Given the description of an element on the screen output the (x, y) to click on. 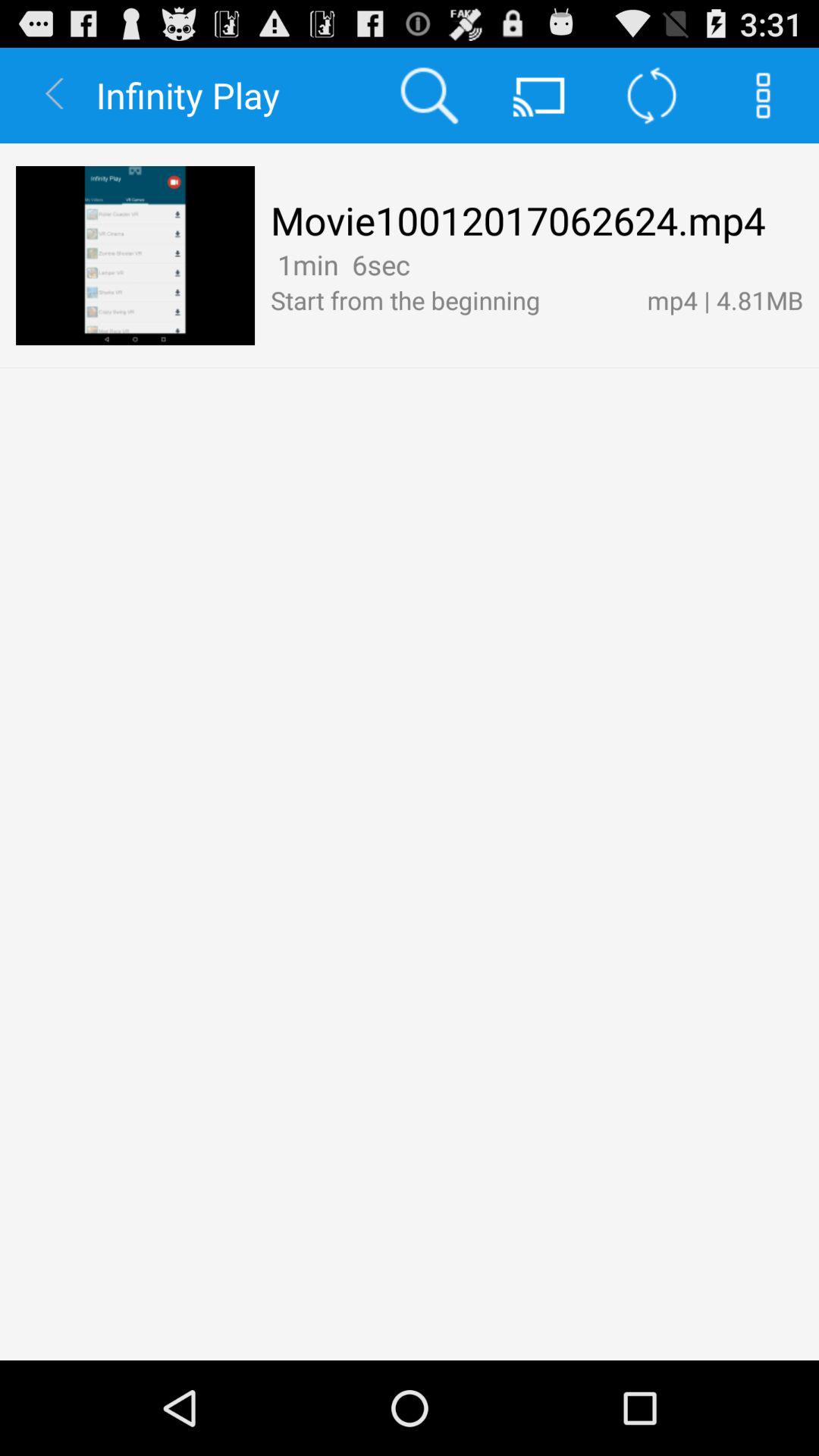
tap item above the start from the item (421, 264)
